Given the description of an element on the screen output the (x, y) to click on. 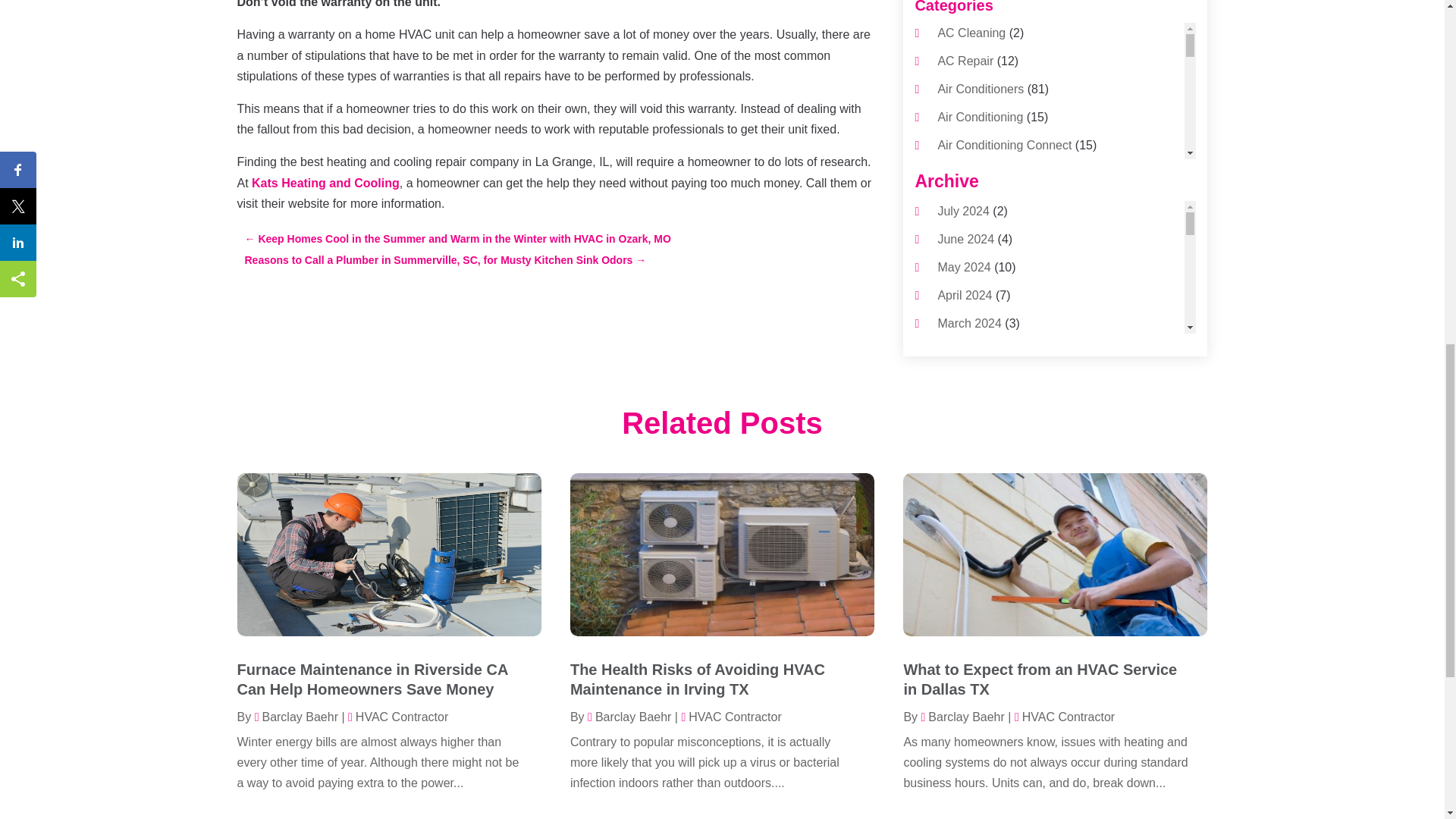
Commercial Air Conditioning (1013, 286)
AC Repair (964, 60)
Posts by Barclay Baehr (962, 716)
Electrician (964, 370)
Air Conditioning (980, 116)
Commercial AC Services (1004, 257)
Heat Pump Repair (986, 427)
Air Conditioners (980, 88)
Air Conditioning Service (1002, 229)
Kats Heating and Cooling (324, 182)
Posts by Barclay Baehr (295, 716)
AC Cleaning (971, 32)
Posts by Barclay Baehr (629, 716)
Heating (957, 454)
Heat And Air (970, 399)
